Given the description of an element on the screen output the (x, y) to click on. 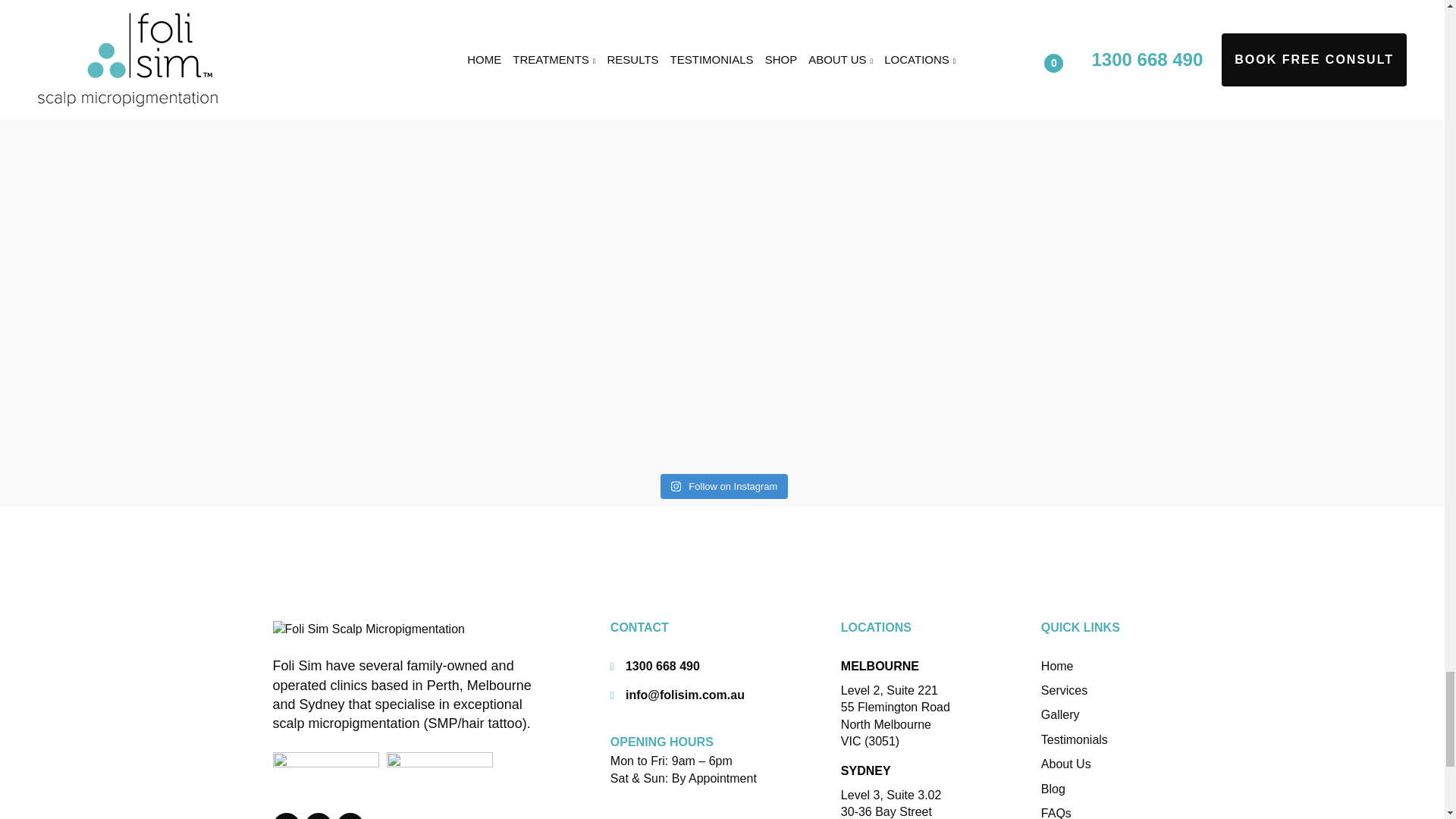
YouTube (350, 816)
Facebook (286, 816)
Instagram (317, 816)
